Given the description of an element on the screen output the (x, y) to click on. 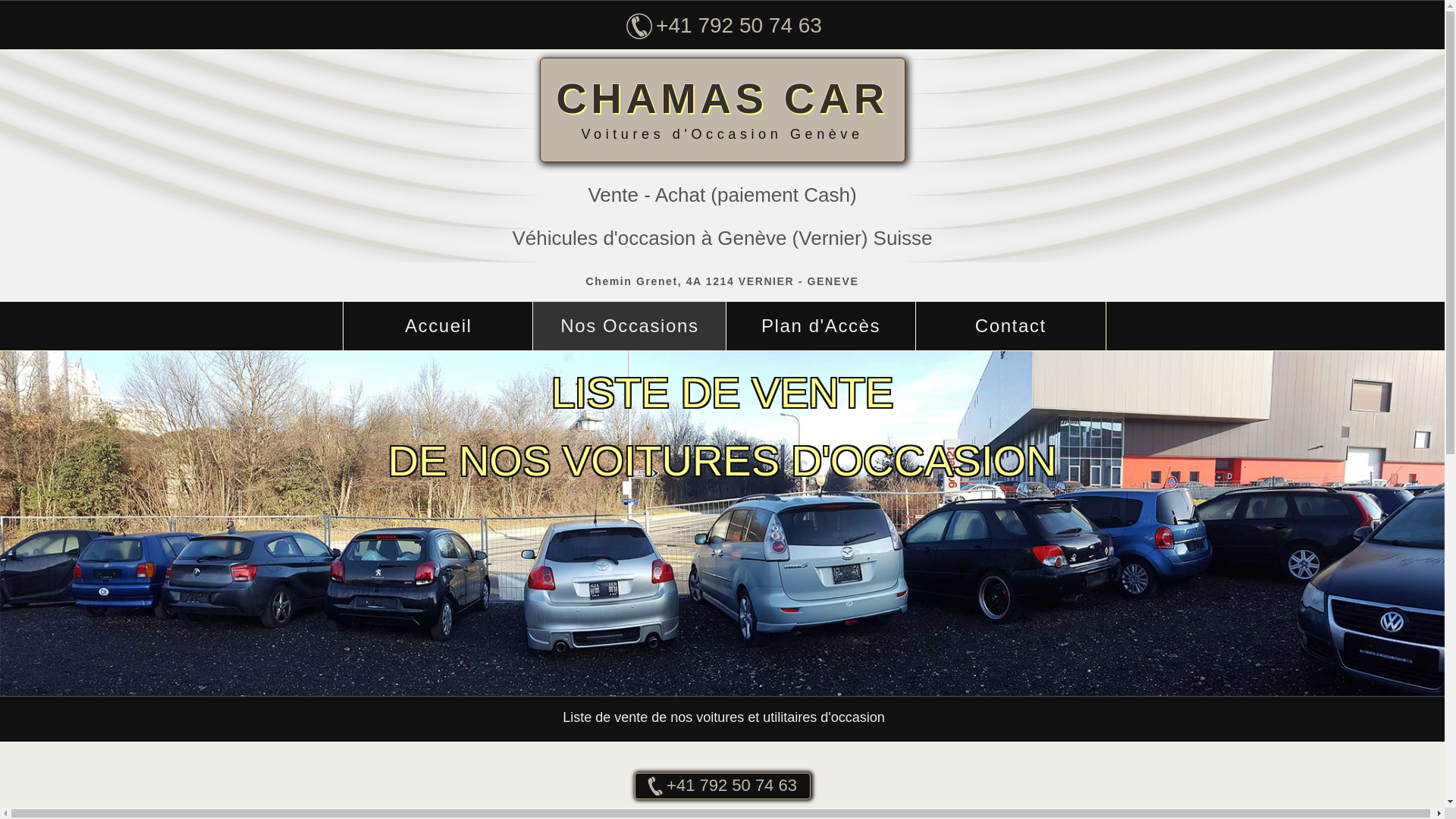
Contact Element type: text (1010, 325)
+41 792 50 74 63 Element type: text (722, 784)
+41 792 50 74 63 Element type: text (723, 25)
Nos Occasions Element type: text (629, 325)
Accueil Element type: text (437, 325)
